Given the description of an element on the screen output the (x, y) to click on. 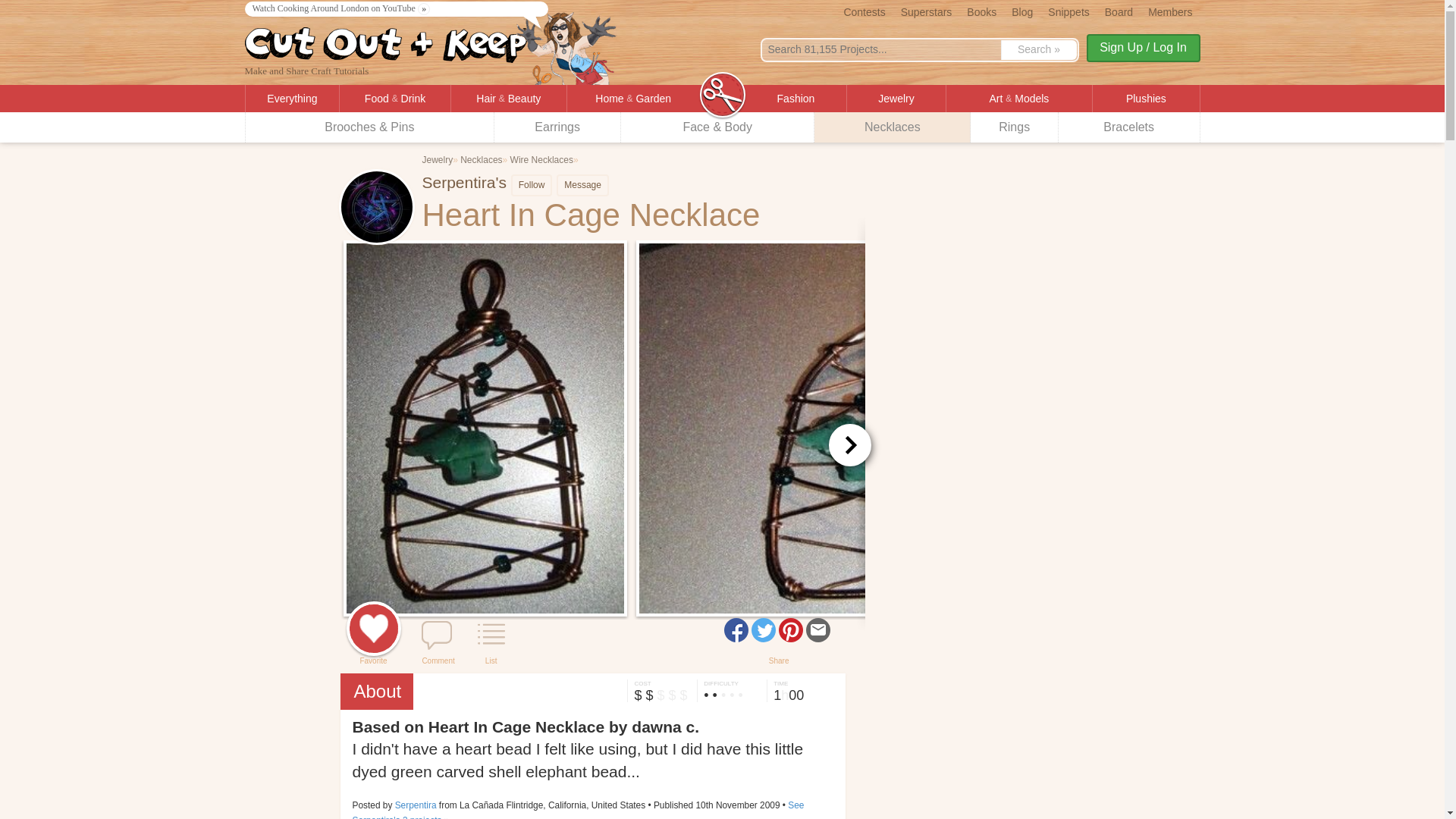
Share this project on Facebook (735, 630)
Share this project in an email (817, 630)
Rings (1014, 127)
Add this project to a list (491, 635)
Leave a comment (436, 635)
Members (1169, 10)
Books (981, 10)
Contests (863, 10)
Blog (1022, 10)
Snippets (1068, 10)
Earrings (558, 127)
Superstars (926, 10)
Board (1118, 10)
Next Image (849, 445)
Everything (292, 98)
